Given the description of an element on the screen output the (x, y) to click on. 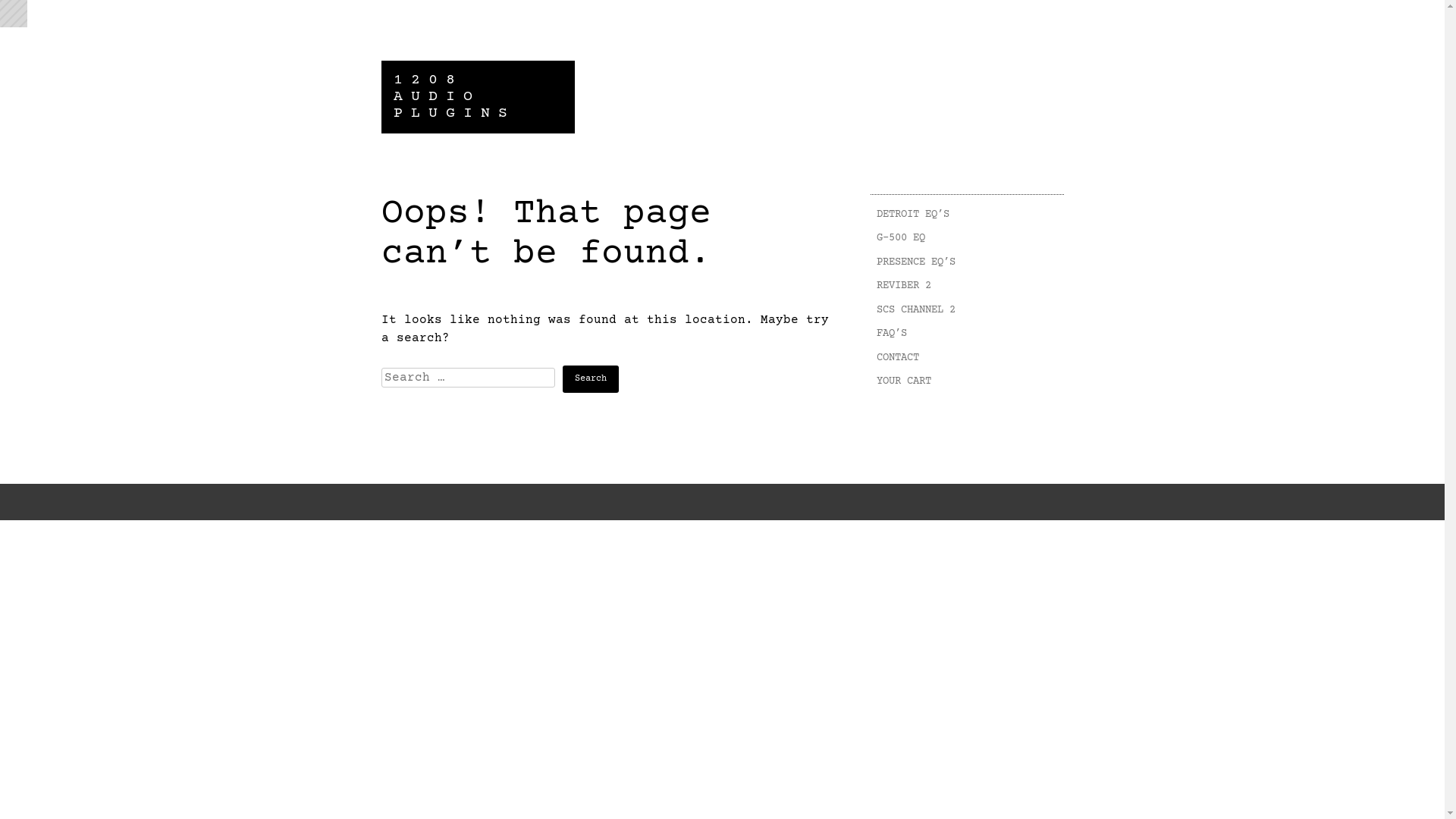
CONTACT Element type: text (966, 357)
G-500 EQ Element type: text (966, 238)
SCS CHANNEL 2 Element type: text (966, 310)
REVIBER 2 Element type: text (966, 286)
1208 AUDIO PLUGINS Element type: text (453, 96)
YOUR CART Element type: text (966, 382)
Search Element type: text (590, 378)
